Given the description of an element on the screen output the (x, y) to click on. 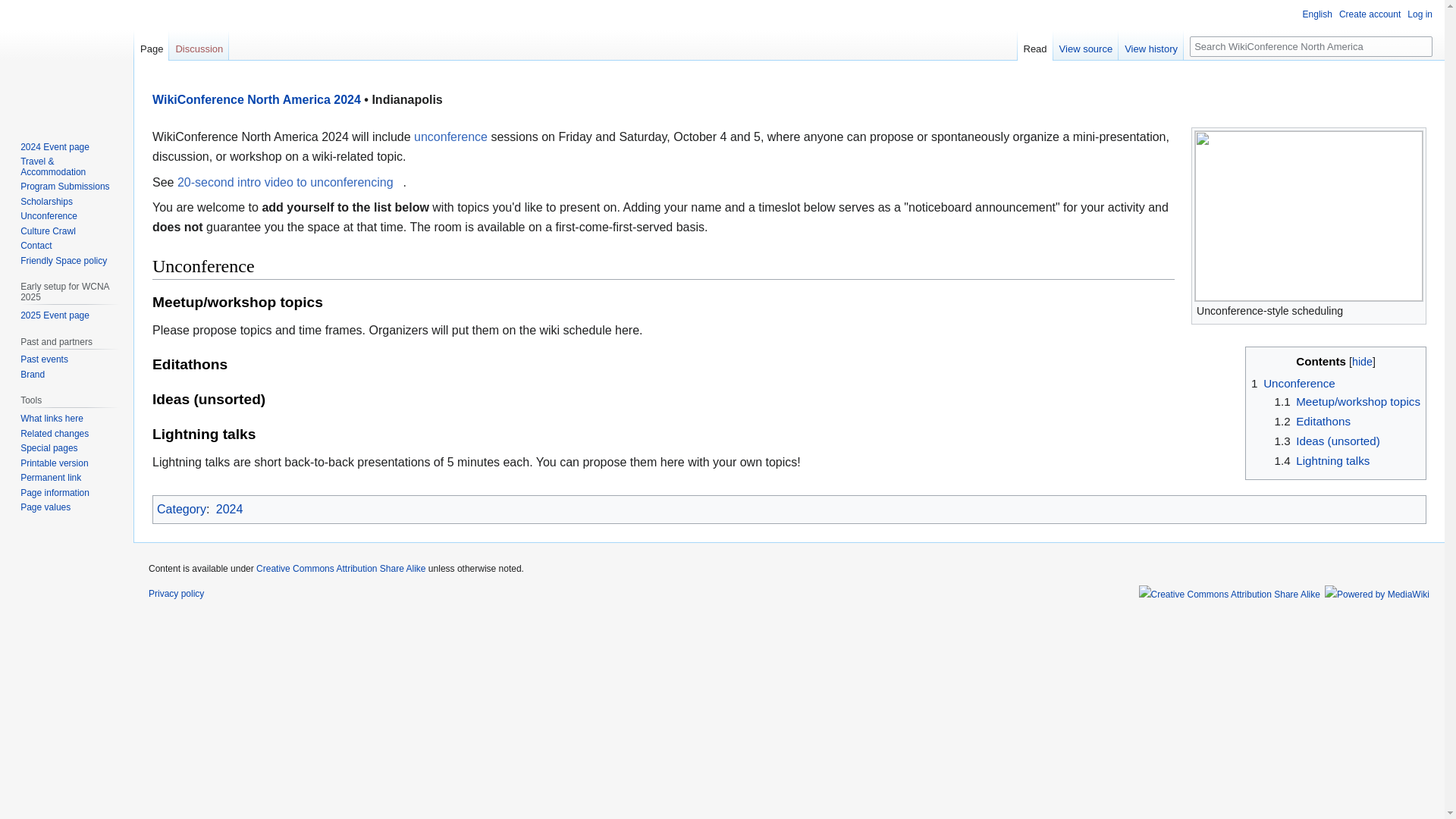
1 Unconference (1292, 382)
2025 Event page (54, 315)
Go (1422, 46)
Scholarships (46, 201)
View source (1085, 45)
Friendly Space policy (63, 260)
1.2 Editathons (1312, 420)
Search the pages for this text (1422, 46)
Page (150, 45)
Create account (1369, 14)
Program Submissions (64, 185)
Search (1422, 46)
2024 (229, 508)
Read (1034, 45)
